Given the description of an element on the screen output the (x, y) to click on. 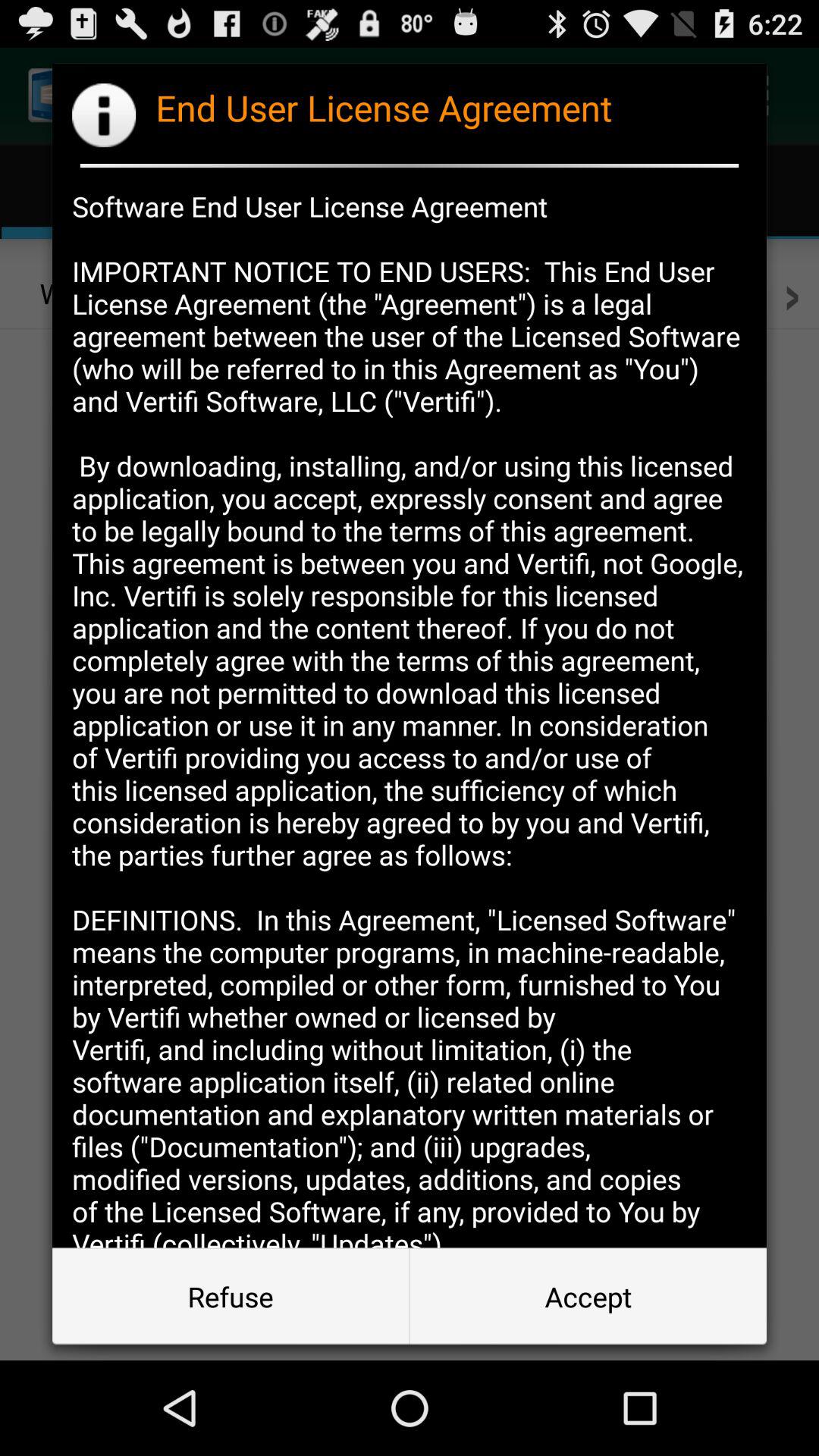
flip until refuse icon (230, 1296)
